Given the description of an element on the screen output the (x, y) to click on. 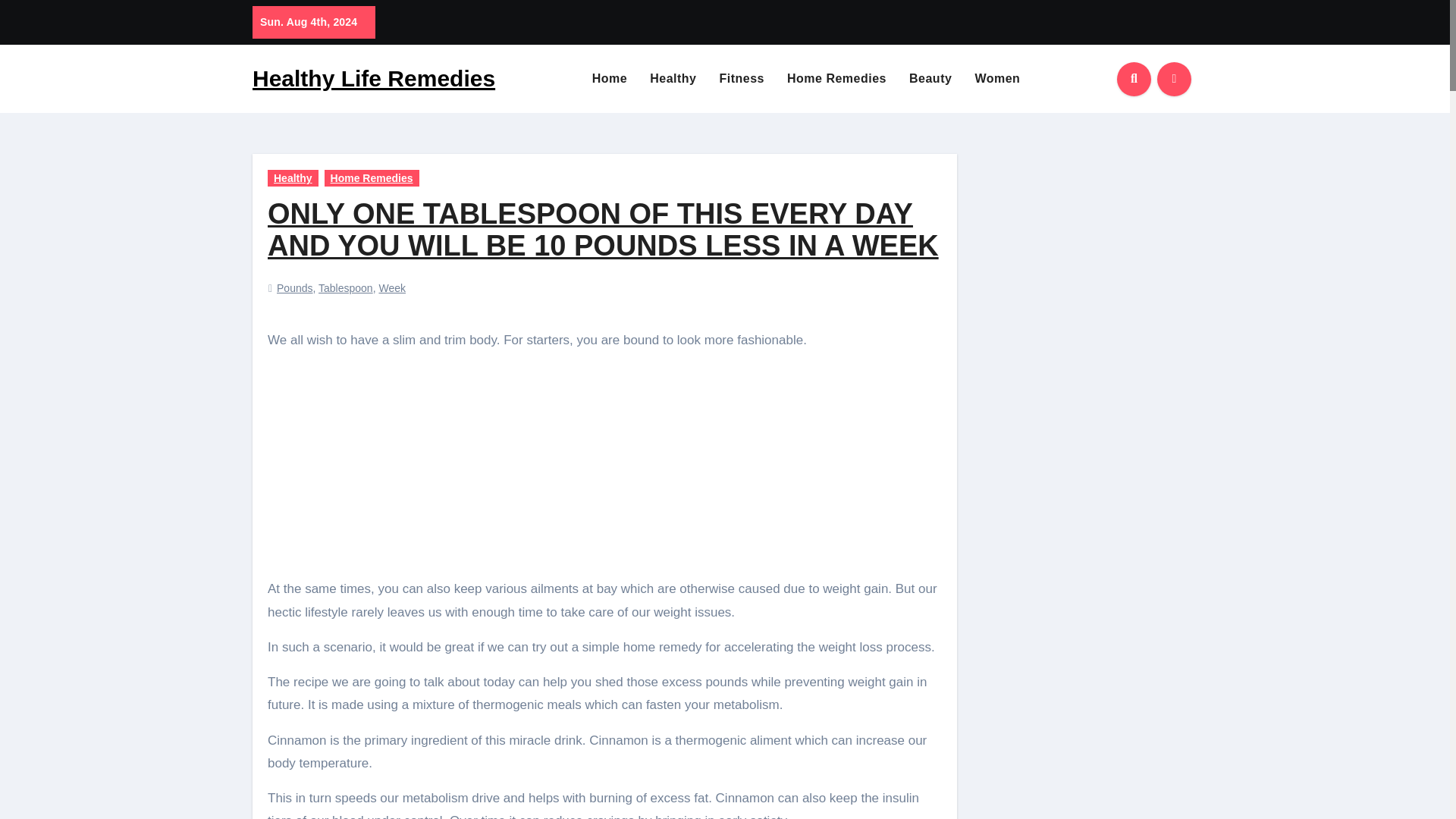
Healthy (673, 79)
Tablespoon (345, 287)
Week (392, 287)
Healthy Life Remedies (373, 78)
Healthy (292, 177)
Women (996, 79)
Home Remedies (837, 79)
Fitness (741, 79)
Healthy (673, 79)
Home (609, 79)
Fitness (741, 79)
Home (609, 79)
Pounds (294, 287)
